Given the description of an element on the screen output the (x, y) to click on. 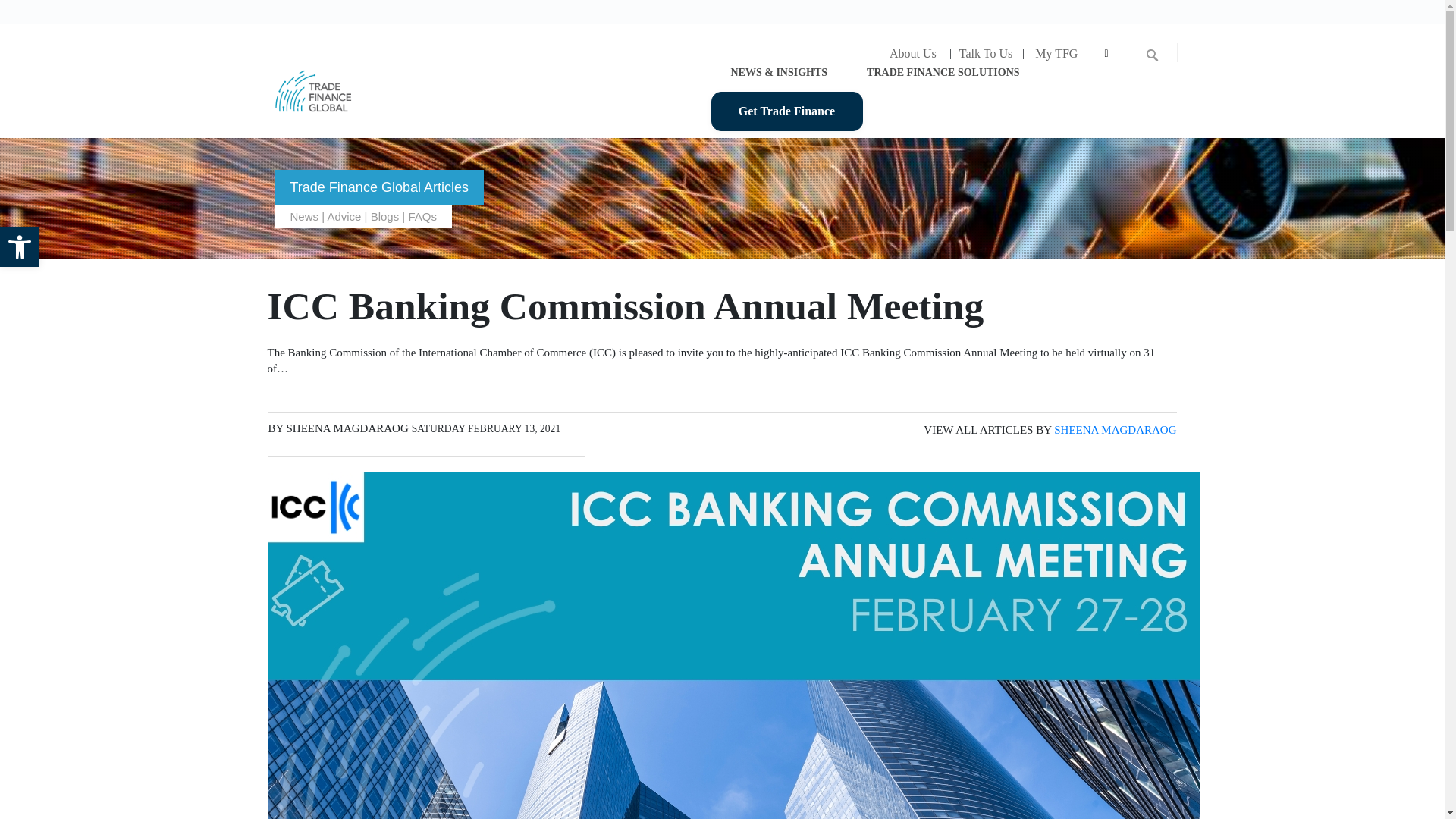
Posts by Sheena Magdaraog (347, 428)
About Us (912, 52)
Search (13, 10)
Accessibility Tools (19, 247)
Posts by Sheena Magdaraog (1115, 428)
Talk To Us (985, 52)
My TFG (1056, 52)
